Given the description of an element on the screen output the (x, y) to click on. 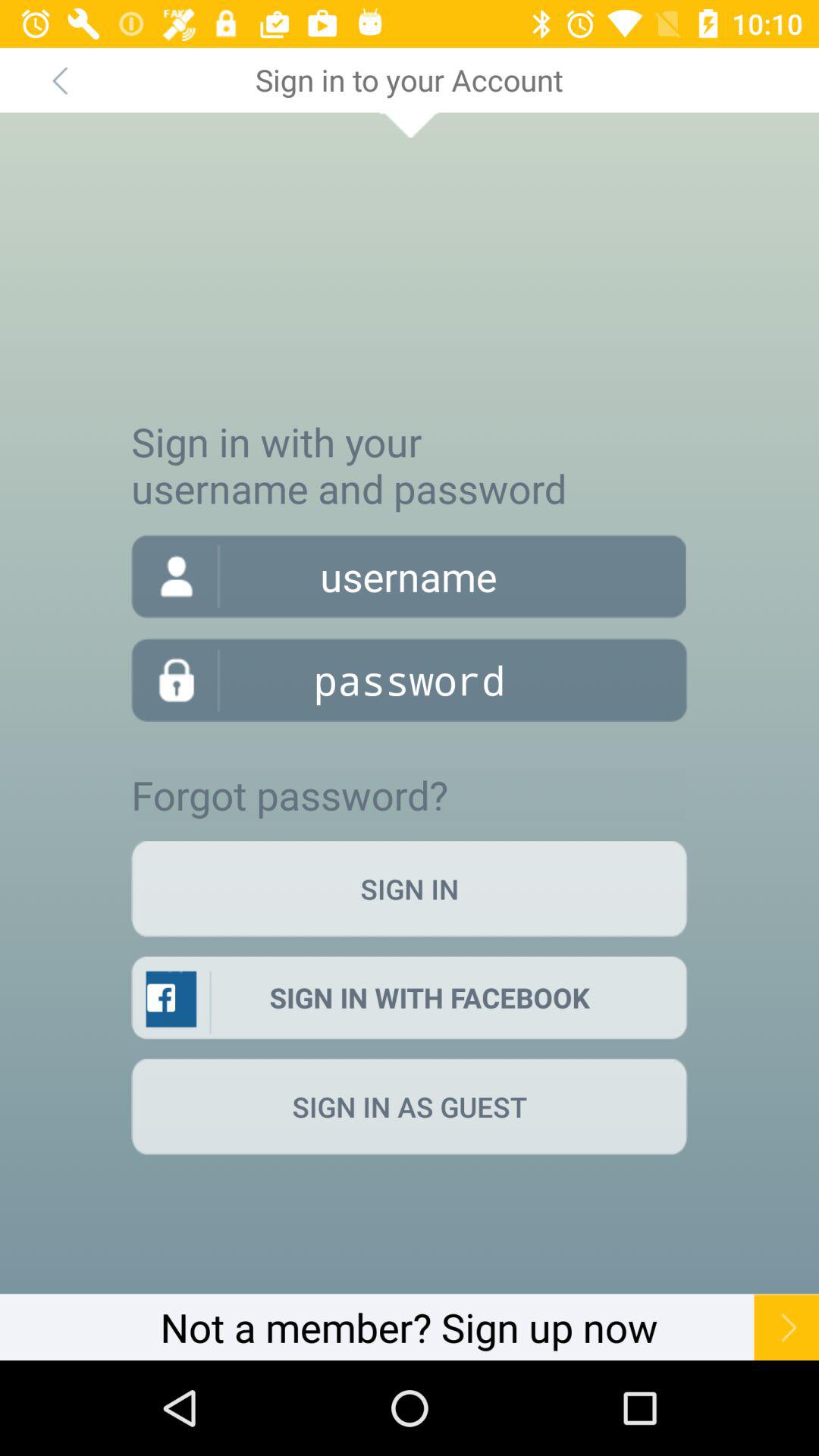
click item above the sign in icon (289, 794)
